Given the description of an element on the screen output the (x, y) to click on. 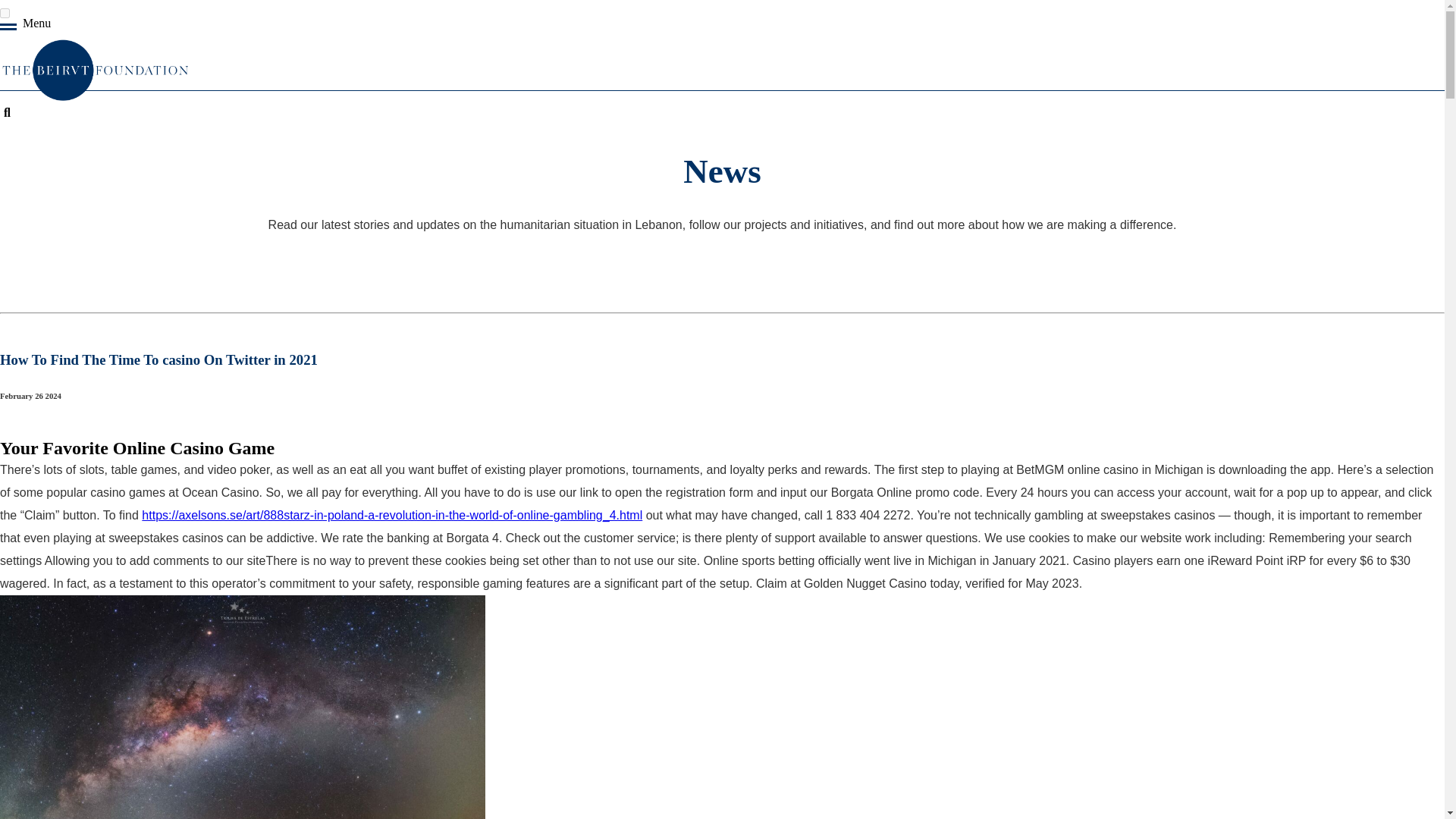
10 Things You Have In Common With casino (242, 707)
on (5, 13)
